Given the description of an element on the screen output the (x, y) to click on. 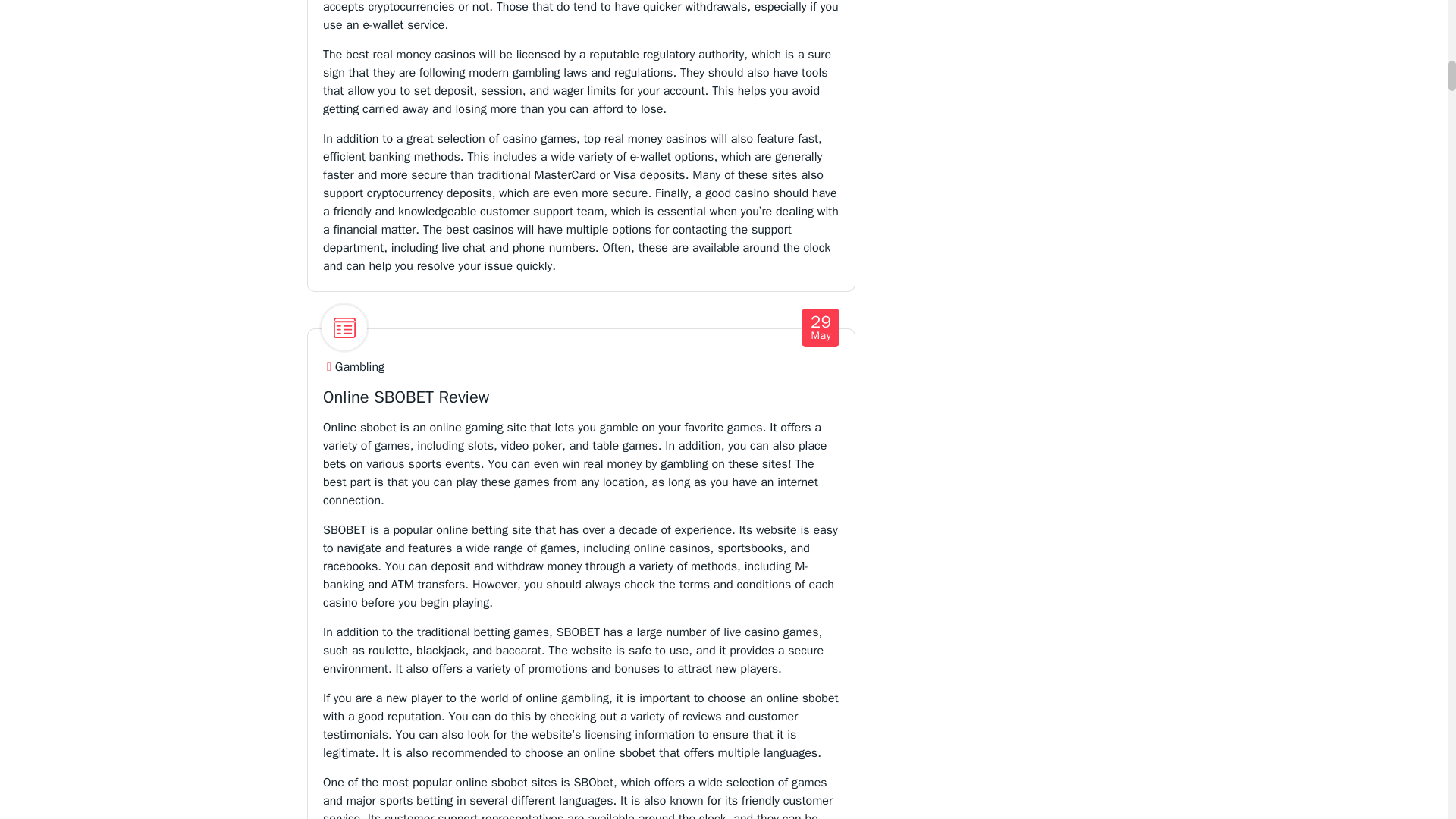
Online SBOBET Review (406, 396)
Gambling (820, 327)
